Given the description of an element on the screen output the (x, y) to click on. 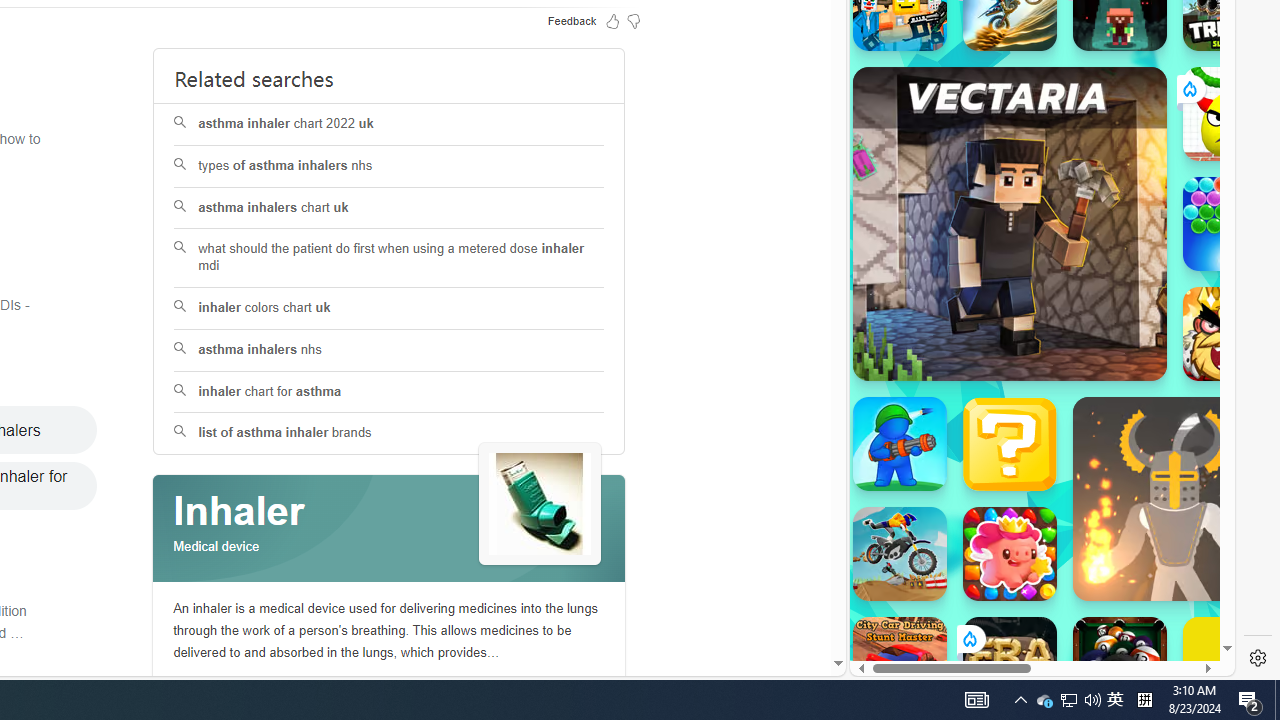
Combat Reloaded Combat Reloaded poki.com (1092, 245)
Combat Reloaded (1092, 200)
Feedback Dislike (633, 20)
SUBWAY SURFERS - Play Online for Free! | Poki (1034, 624)
Mystery Tile (1009, 443)
See more images of Inhaler (539, 505)
types of asthma inhalers nhs (389, 165)
Match Arena (1009, 553)
Ragdoll Hit (1174, 498)
